Given the description of an element on the screen output the (x, y) to click on. 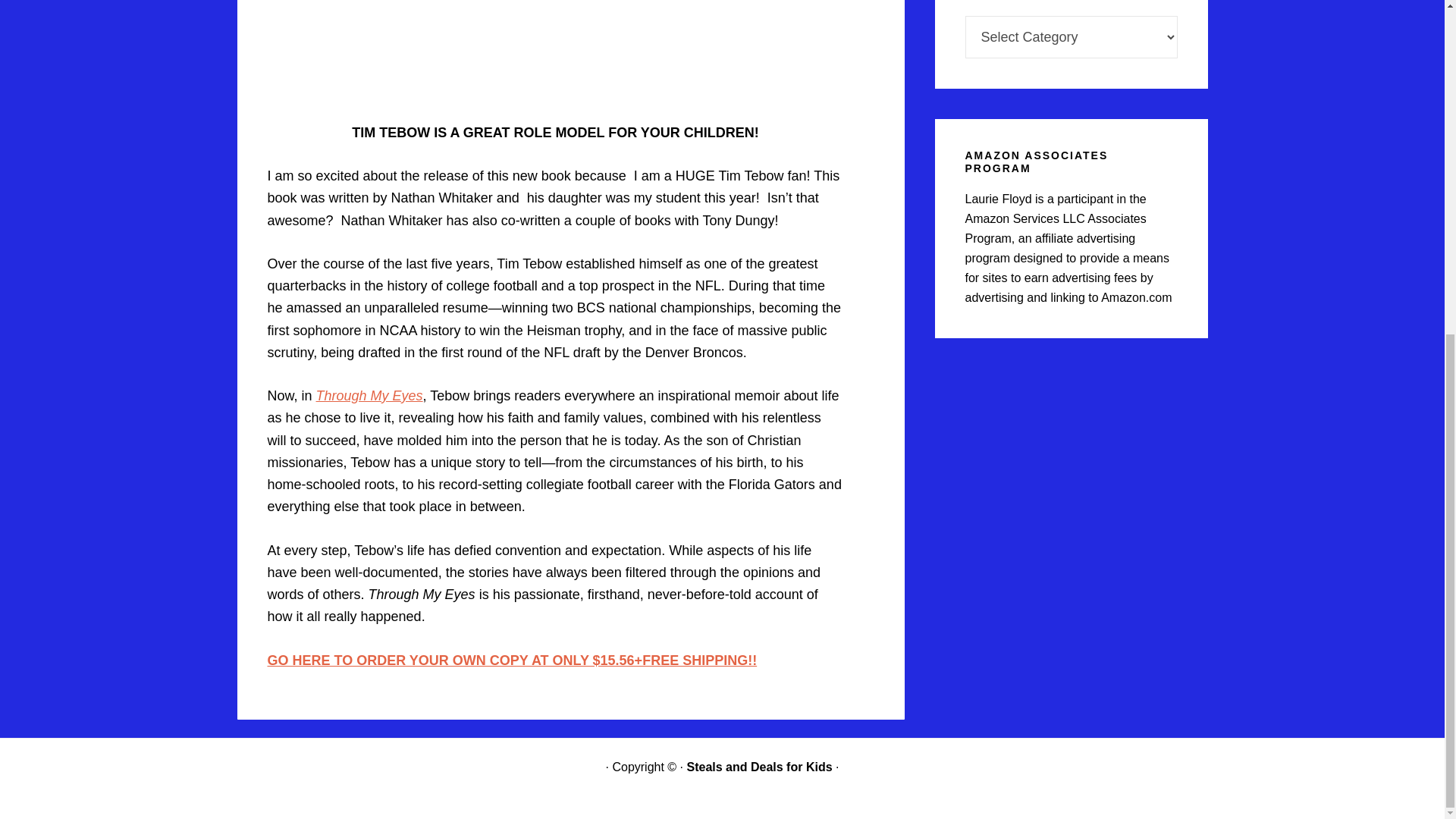
Return to top (722, 756)
Genesis Framework (754, 746)
Tim Tebow Through My Eyes (511, 660)
Steals and Deals For Kids (758, 766)
Log in (884, 746)
